Given the description of an element on the screen output the (x, y) to click on. 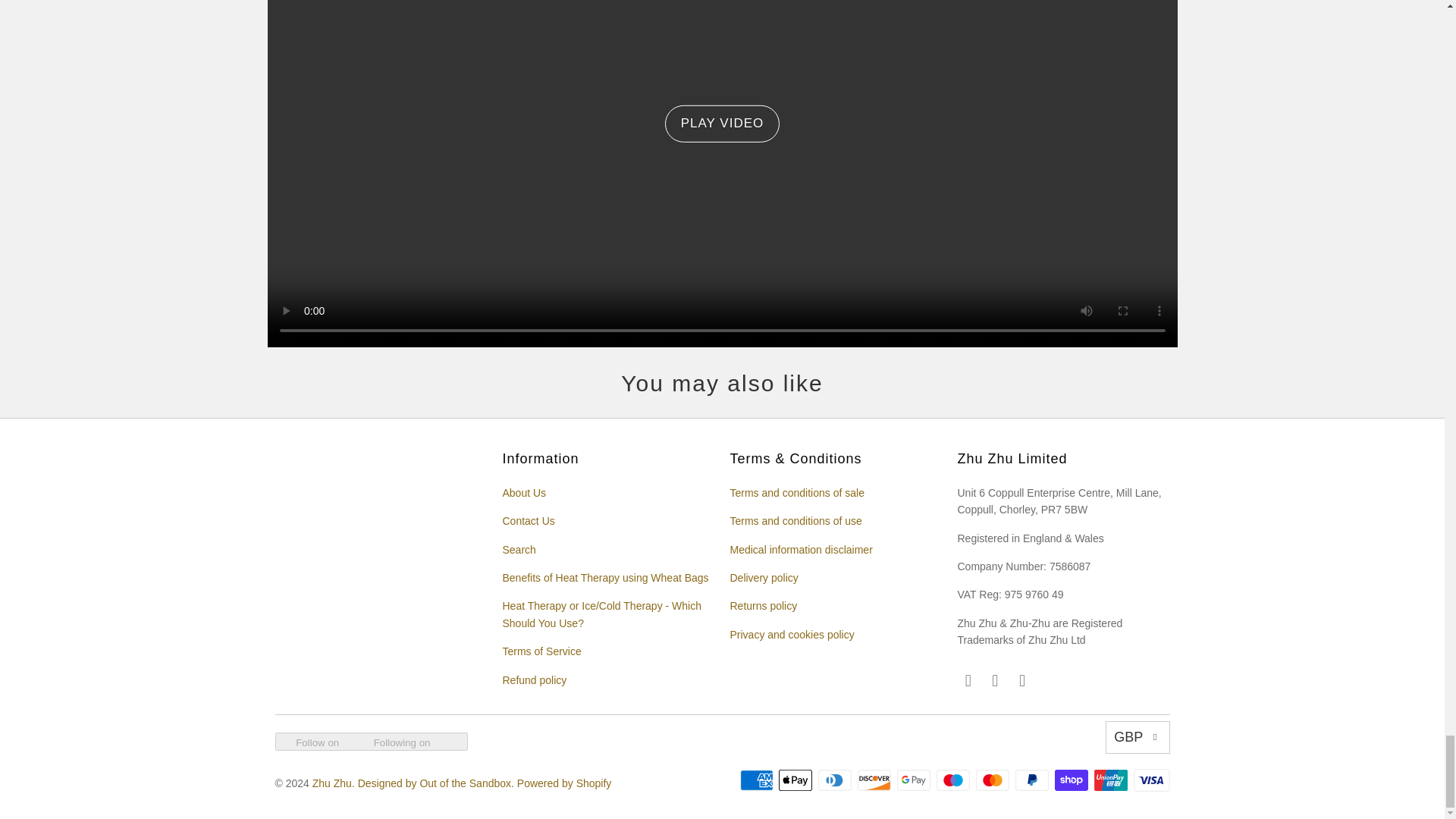
Visa (1150, 780)
Zhu Zhu on Twitter (1022, 680)
Shop Pay (1072, 780)
Google Pay (914, 780)
Zhu Zhu on Facebook (995, 680)
American Express (757, 780)
Discover (875, 780)
Union Pay (1112, 780)
Maestro (954, 780)
PayPal (1032, 780)
Apple Pay (796, 780)
Mastercard (993, 780)
Email Zhu Zhu (967, 680)
Diners Club (836, 780)
